Given the description of an element on the screen output the (x, y) to click on. 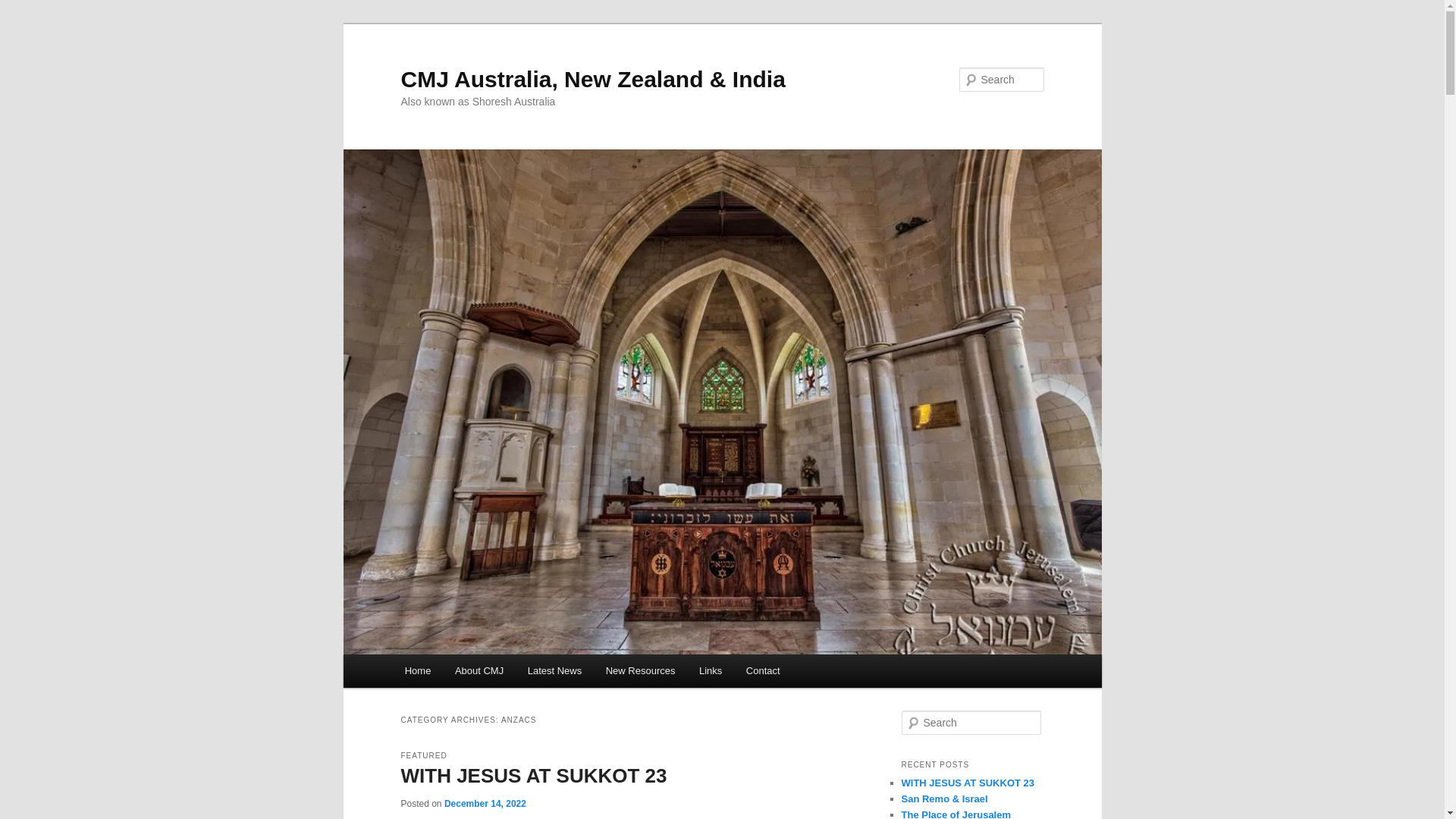
Search Element type: text (20, 10)
December 14, 2022 Element type: text (485, 803)
Skip to primary content Element type: text (22, 22)
Latest News Element type: text (554, 670)
San Remo & Israel Element type: text (943, 798)
Contact Element type: text (762, 670)
Links Element type: text (710, 670)
WITH JESUS AT SUKKOT 23 Element type: text (533, 775)
WITH JESUS AT SUKKOT 23 Element type: text (967, 782)
Search Element type: text (24, 8)
About CMJ Element type: text (478, 670)
CMJ Australia, New Zealand & India Element type: text (592, 78)
New Resources Element type: text (640, 670)
Home Element type: text (417, 670)
